Given the description of an element on the screen output the (x, y) to click on. 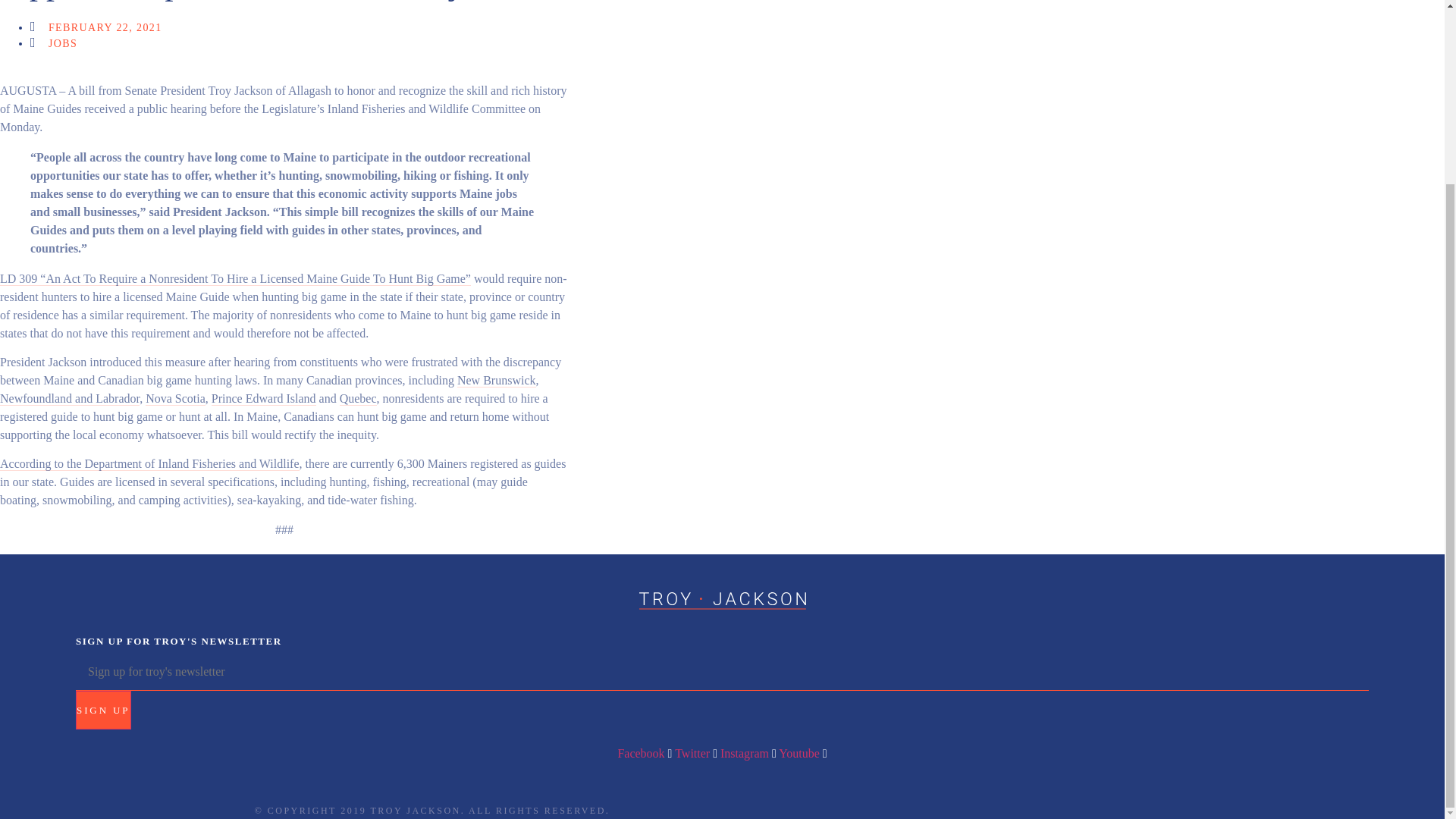
New Brunswick (496, 380)
